Given the description of an element on the screen output the (x, y) to click on. 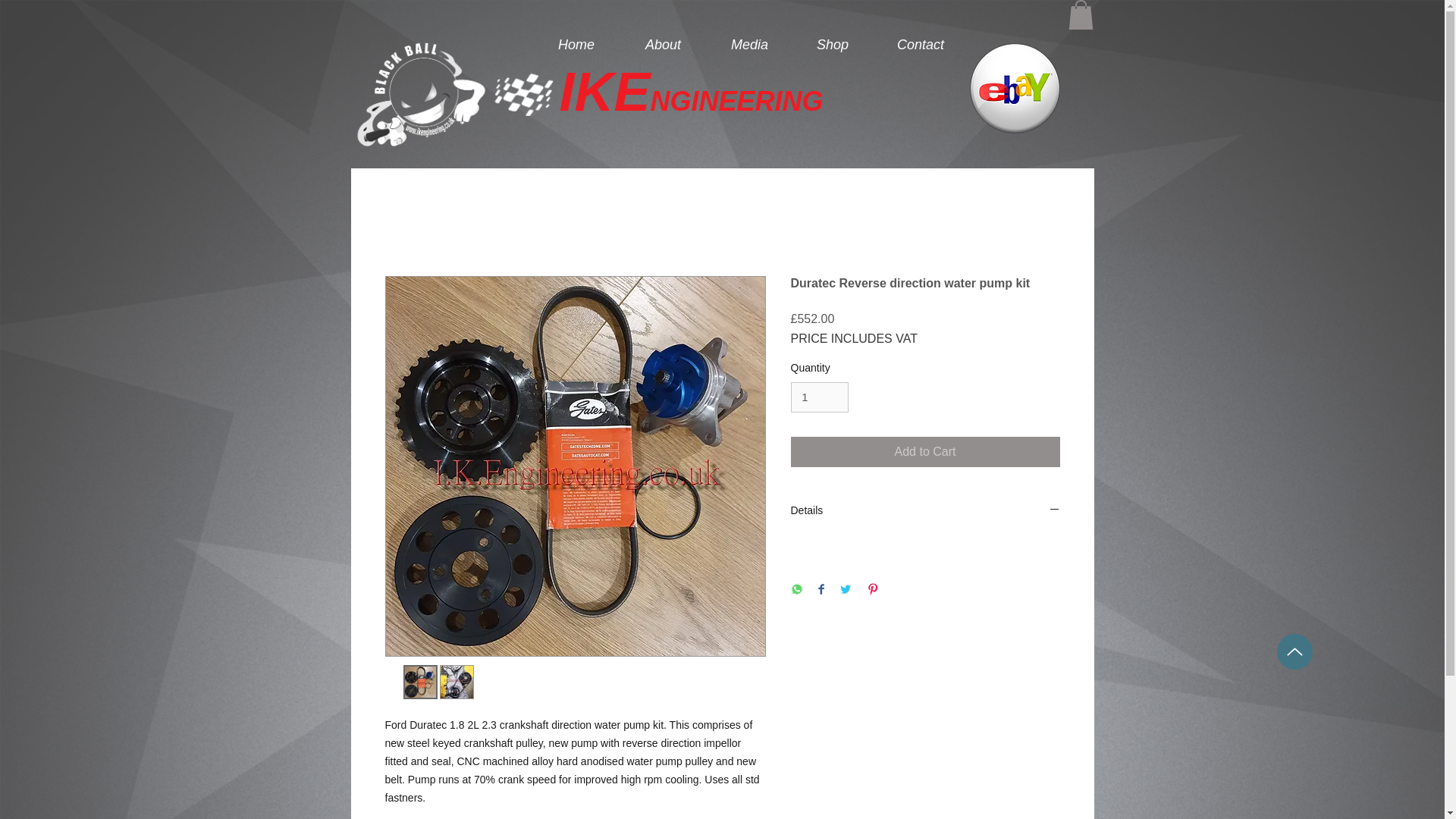
Home (576, 44)
Shop (832, 44)
1 (818, 397)
Add to Cart (924, 451)
Details (924, 511)
About (663, 44)
Media (749, 44)
Contact (920, 44)
PRICE INCLUDES VAT (853, 338)
